Given the description of an element on the screen output the (x, y) to click on. 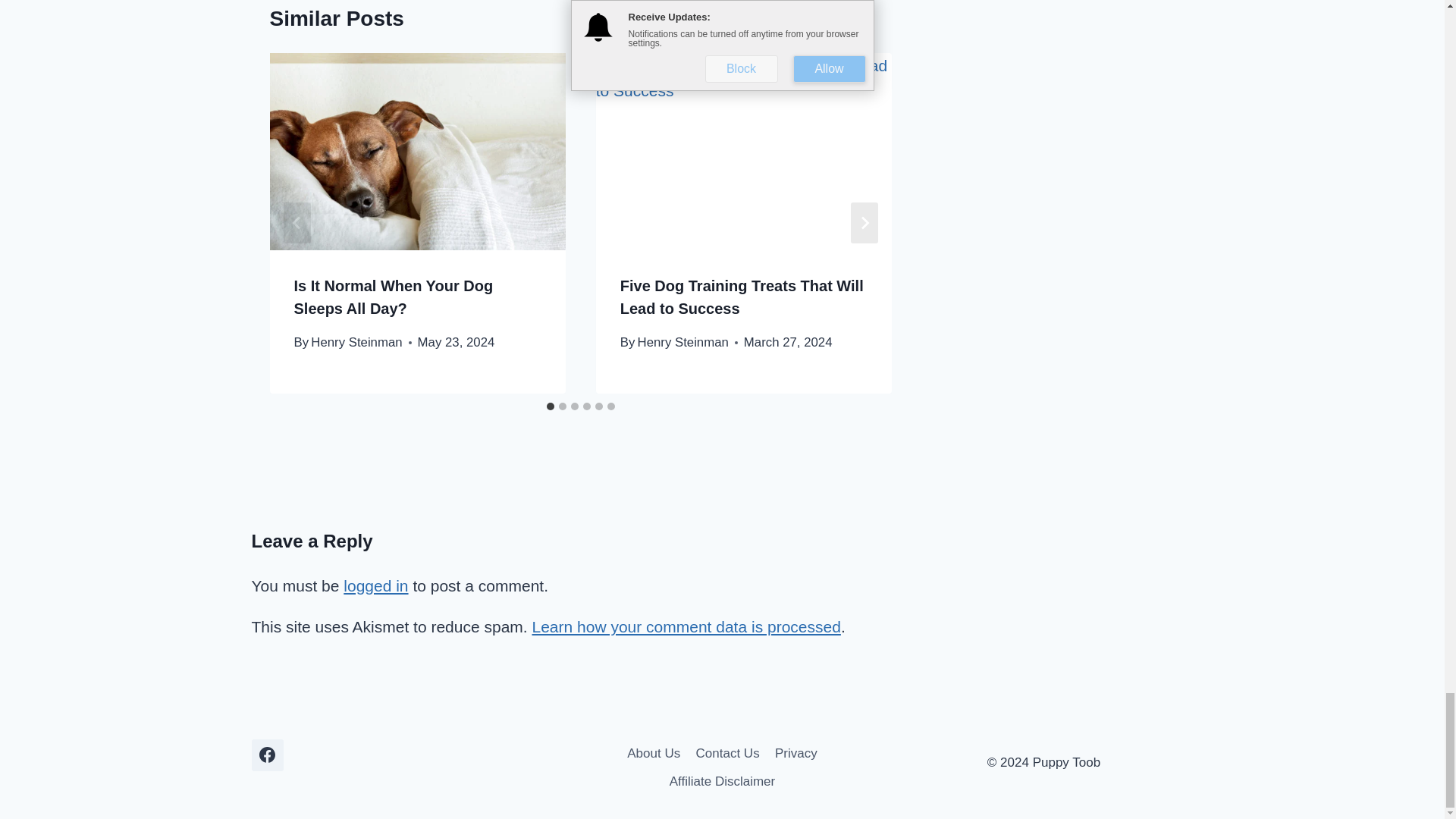
Is It Normal When Your Dog Sleeps All Day? (393, 296)
Five Dog Training Treats That Will Lead to Success (741, 296)
Henry Steinman (683, 341)
Henry Steinman (356, 341)
